Given the description of an element on the screen output the (x, y) to click on. 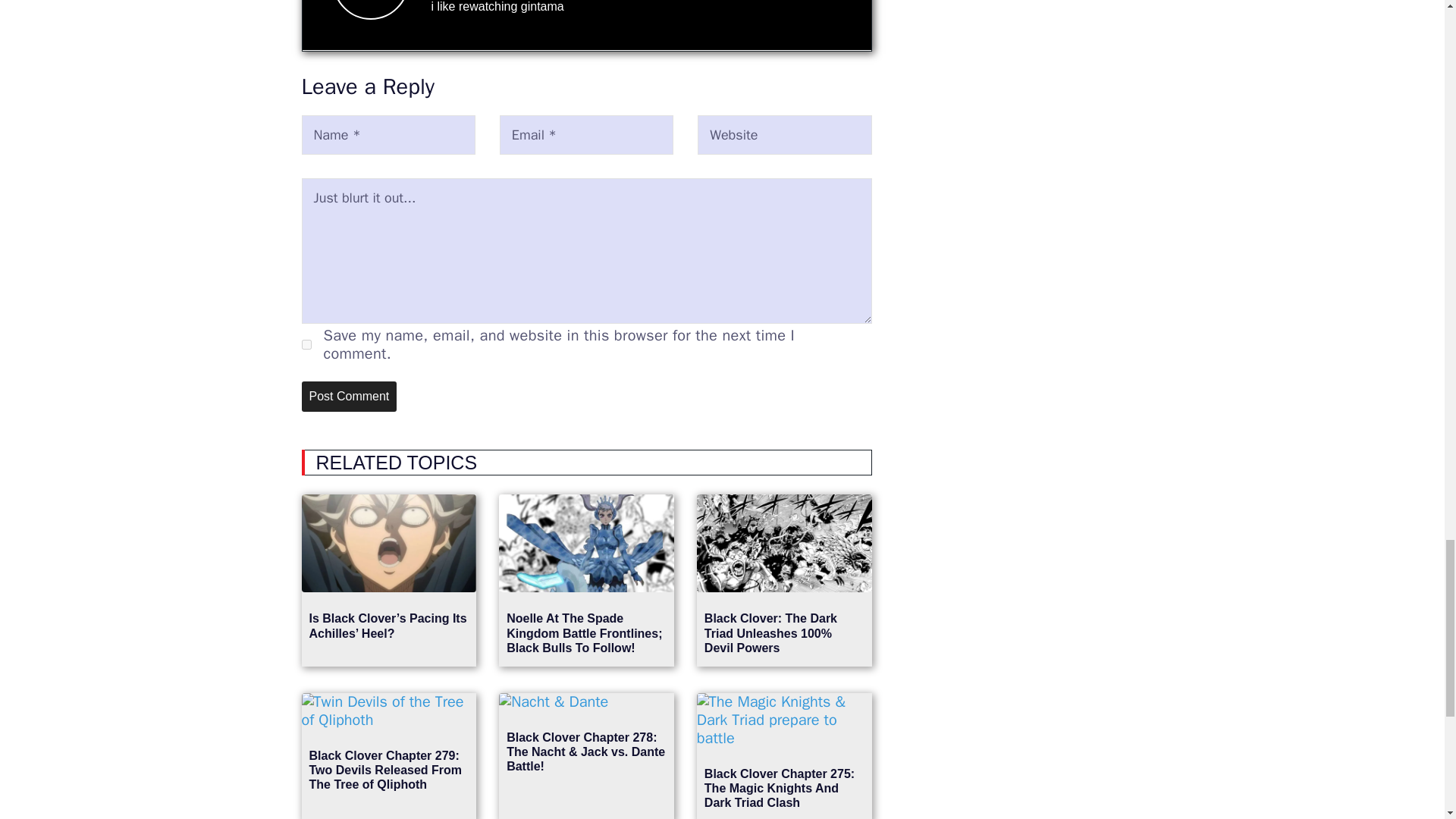
yes (306, 344)
Post Comment (349, 396)
